Given the description of an element on the screen output the (x, y) to click on. 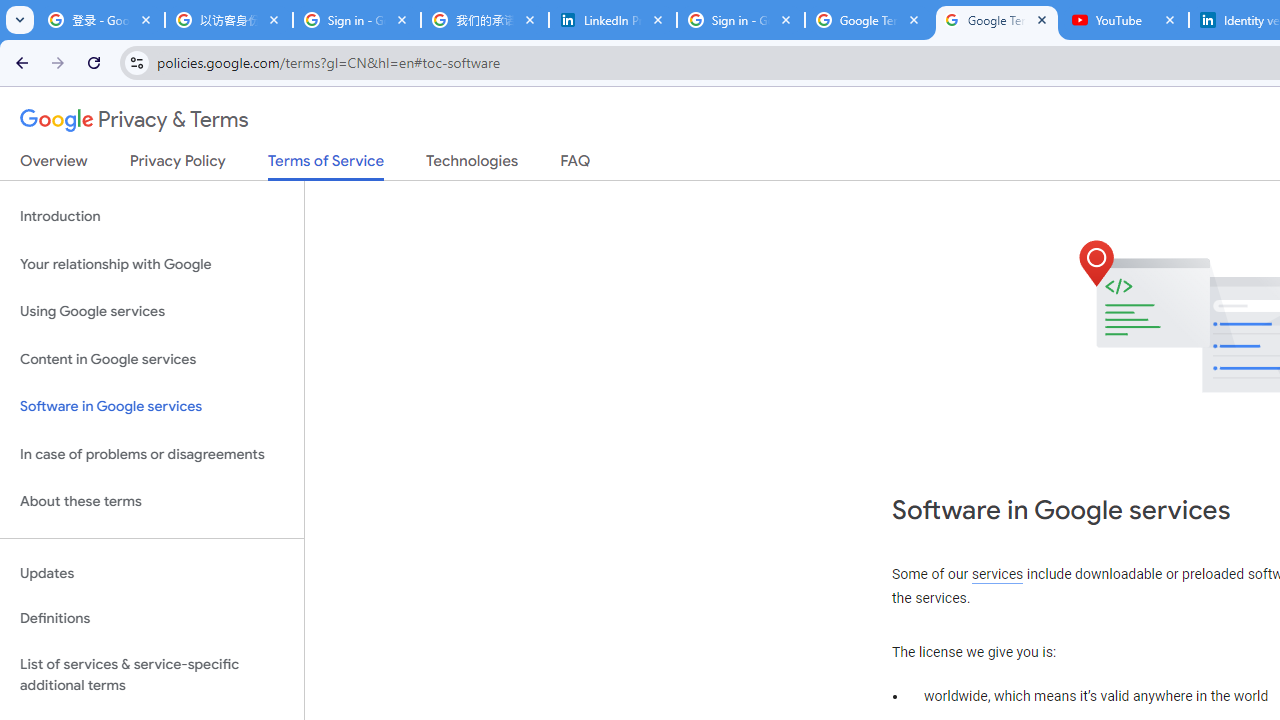
Using Google services (152, 312)
services (997, 574)
In case of problems or disagreements (152, 453)
YouTube (1125, 20)
List of services & service-specific additional terms (152, 674)
Privacy Policy (177, 165)
Introduction (152, 216)
Sign in - Google Accounts (741, 20)
Terms of Service (326, 166)
Technologies (472, 165)
